Given the description of an element on the screen output the (x, y) to click on. 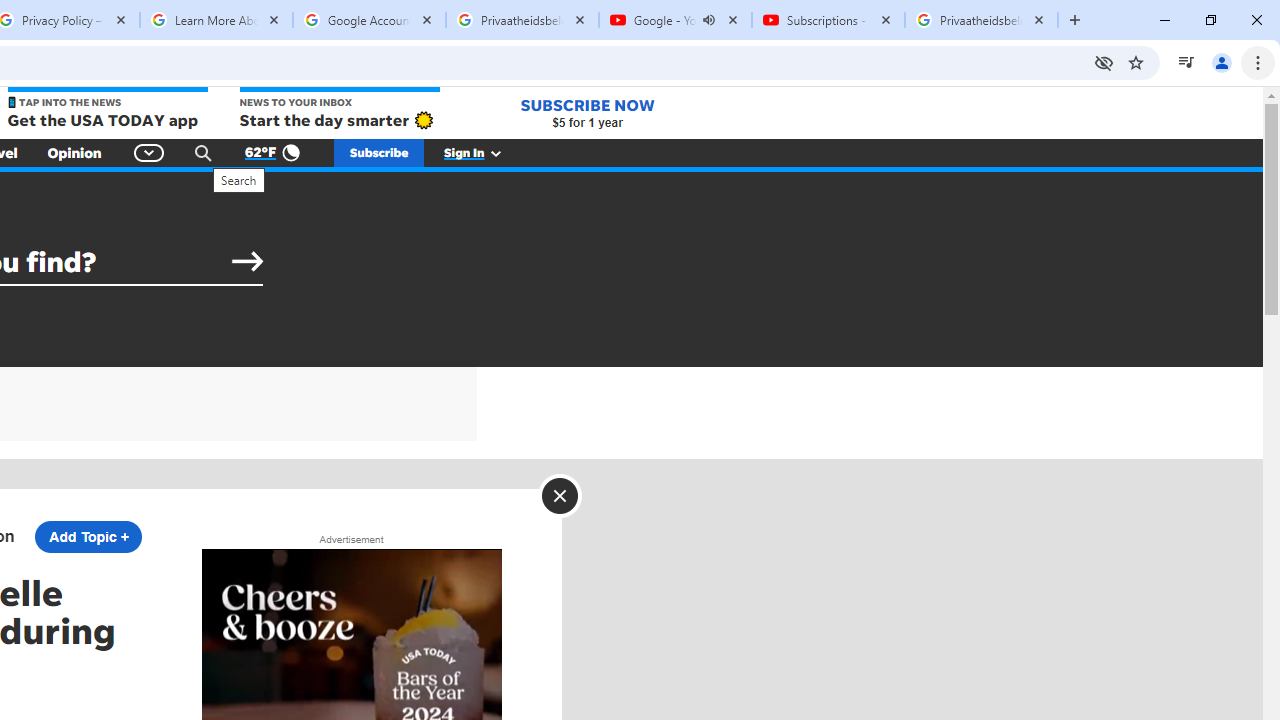
Sign In (483, 152)
SUBSCRIBE NOW $5 for 1 year (587, 112)
Submit (247, 261)
